Given the description of an element on the screen output the (x, y) to click on. 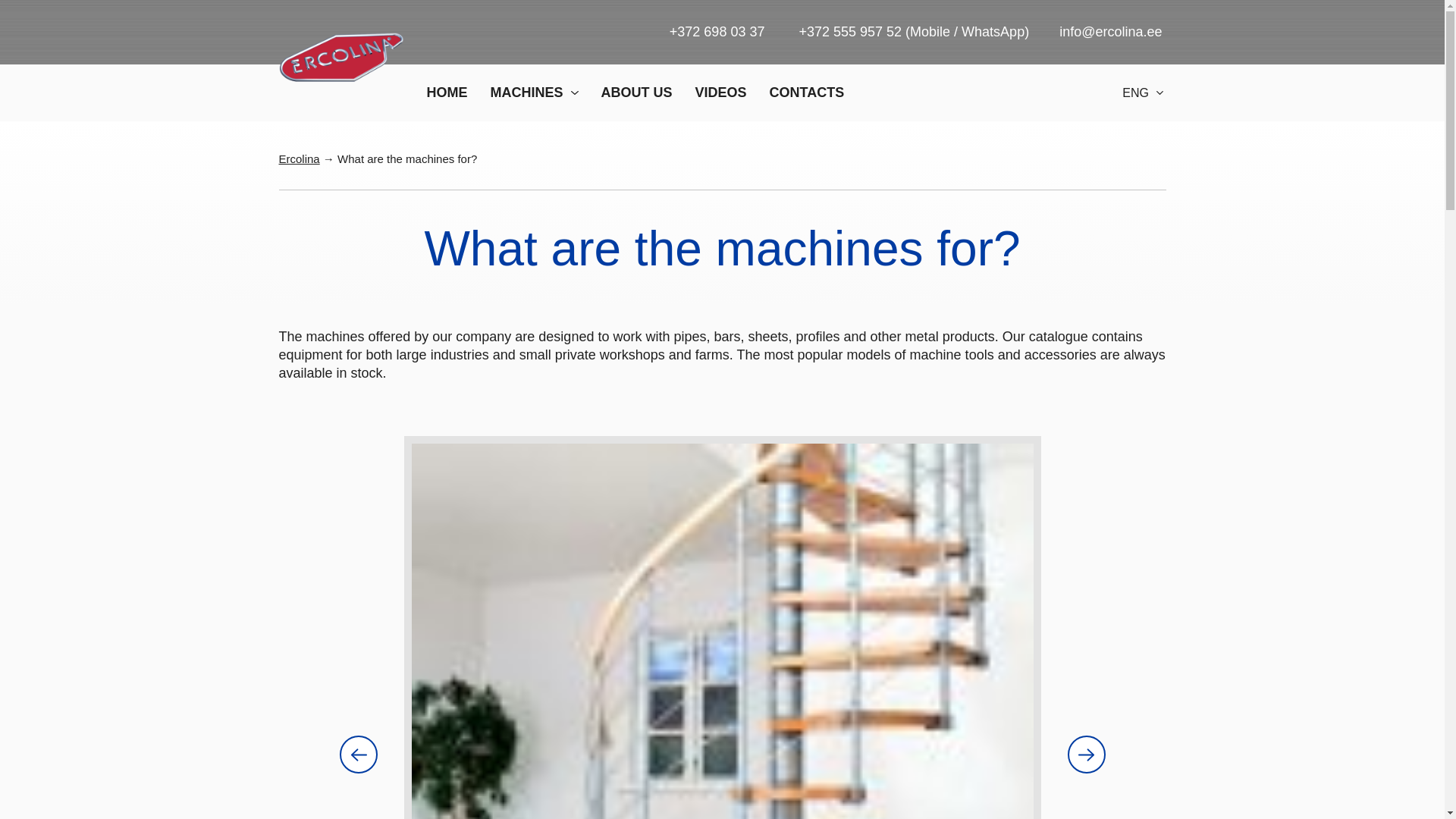
ENG (1129, 92)
CONTACTS (807, 92)
VIDEOS (720, 92)
MACHINES (534, 92)
Go to Ercolina. (299, 158)
ABOUT US (636, 92)
HOME (446, 92)
Home (446, 92)
Ercolina (299, 158)
